Given the description of an element on the screen output the (x, y) to click on. 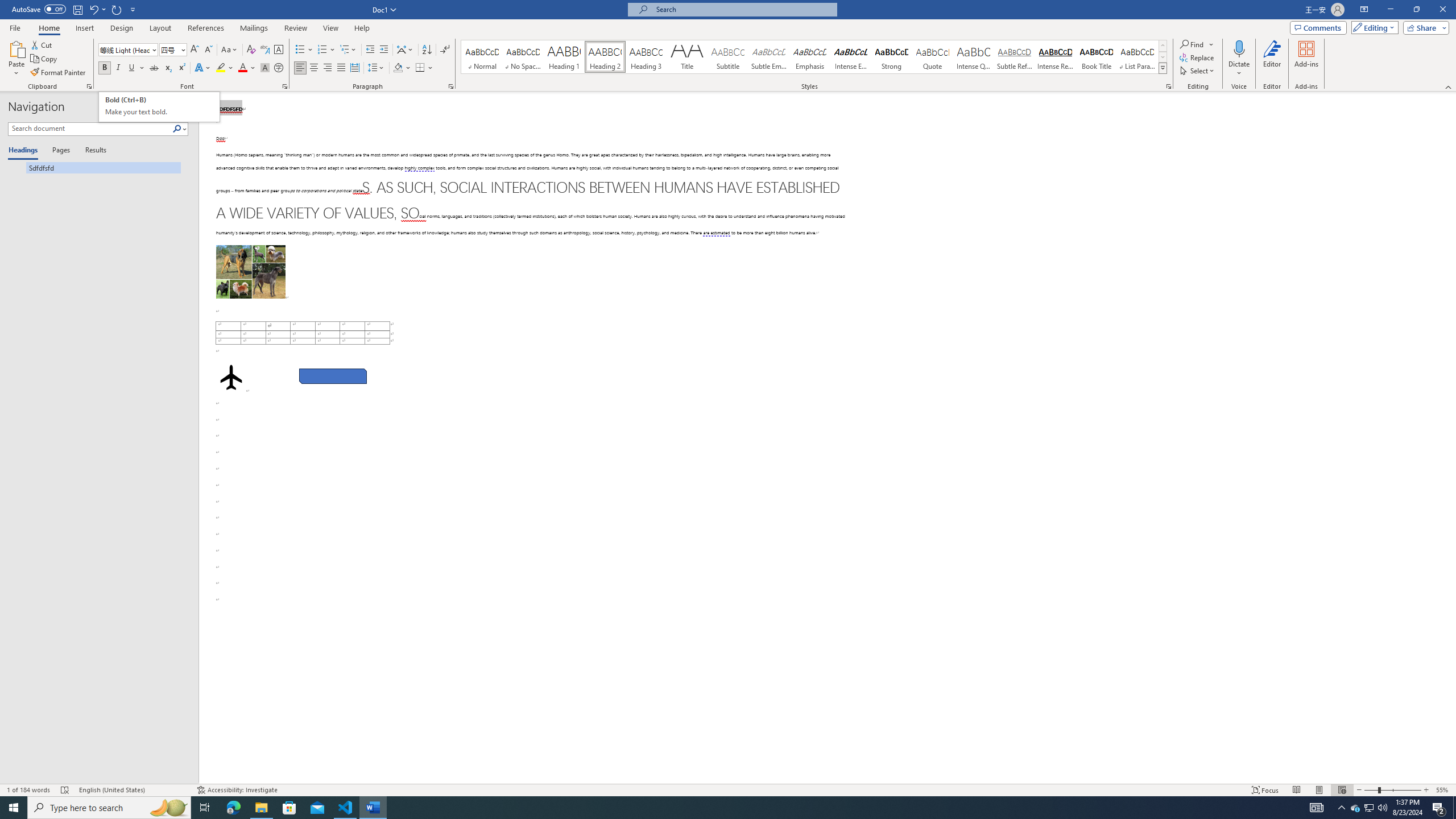
Book Title (1095, 56)
Design (122, 28)
Italic (118, 67)
Subtle Reference (1014, 56)
Class: MsoCommandBar (728, 789)
Sort... (426, 49)
Subscript (167, 67)
Bullets (304, 49)
Paragraph... (450, 85)
Paste (16, 48)
AutomationID: QuickStylesGallery (814, 56)
Heading 1 (564, 56)
Help (361, 28)
